Given the description of an element on the screen output the (x, y) to click on. 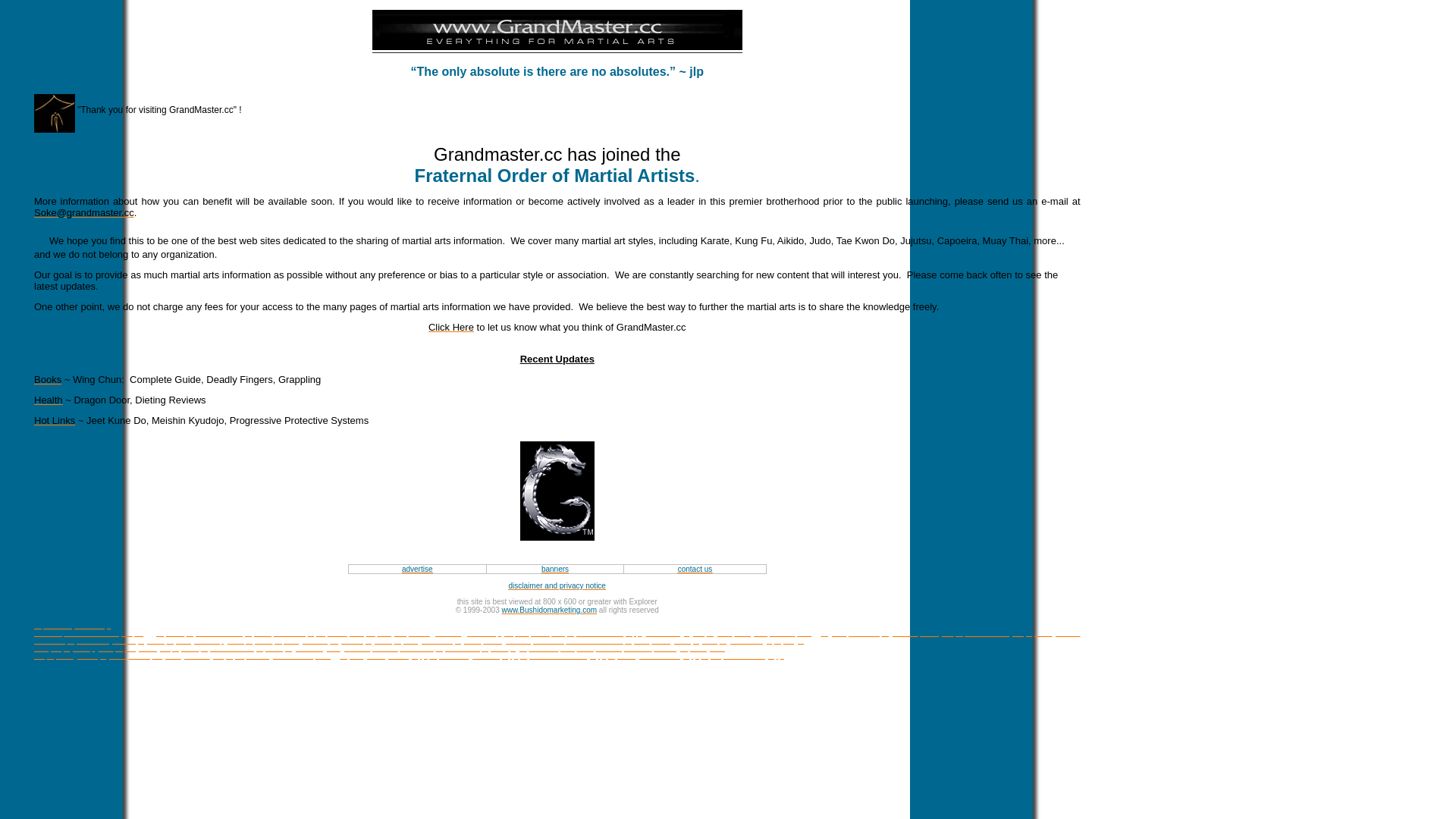
slotsgg Element type: text (808, 633)
warungtoto.epizy.com Element type: text (684, 640)
pusatwin Element type: text (196, 655)
http://vegasslot77.epizy.com/ Element type: text (436, 640)
permatabet88 Element type: text (292, 655)
garuda138 Element type: text (479, 633)
http://daftarvegasslot.epizy.com/ Element type: text (115, 640)
vegasslot77 Element type: text (899, 633)
Hot Links Element type: text (54, 420)
http://vegasslot77pgsoft.epizy.com/ Element type: text (219, 640)
kartugg Element type: text (326, 655)
gaskan88 Element type: text (446, 633)
autowin88sbobet.epizy.com Element type: text (607, 640)
Books Element type: text (47, 379)
vegas4d Element type: text (719, 633)
lemacau Element type: text (782, 633)
psg138 Element type: text (693, 633)
pokerseri Element type: text (356, 648)
sky77 Element type: text (316, 633)
https://vegasslot77.netlify.app/ Element type: text (653, 655)
ligaciputra Element type: text (513, 633)
Soke@grandmaster.cc Element type: text (84, 212)
javaplay88 Element type: text (227, 655)
infini88 Element type: text (139, 655)
luxury111 Element type: text (391, 633)
contact us Element type: text (694, 568)
https://hoki99.netlify.app/ Element type: text (604, 633)
banners Element type: text (554, 568)
cuan138 Element type: text (609, 648)
warungtoto Element type: text (936, 633)
maxwin138 Element type: text (663, 633)
autowin88 Element type: text (863, 633)
gaspol168 Element type: text (169, 633)
http://dragon77.epizy.com/ Element type: text (86, 655)
https://hoki99slot.epizy.com/ Element type: text (228, 633)
bonanza88 Element type: text (416, 648)
joker123 autowin88 Element type: text (557, 636)
vegasslot77 login Element type: text (745, 640)
tambang88 Element type: text (670, 648)
disclaimer and privacy notice Element type: text (556, 585)
https://pokerseri.netlify.app/ Element type: text (741, 655)
nuke gaming slot Element type: text (381, 651)
mild88 Element type: text (337, 633)
mantap168 Element type: text (547, 633)
https://warungtoto.netlify.app/ Element type: text (473, 655)
http://liga-sedayu.epizy.com/ Element type: text (418, 644)
advertise Element type: text (417, 568)
liveslot168 Element type: text (289, 633)
sloto Element type: text (567, 648)
warungtoto.w3spaces.com Element type: text (523, 640)
Health Element type: text (48, 399)
dragon77 Element type: text (165, 655)
www.Bushidomarketing.com Element type: text (548, 609)
http://vegasslot77pragmatic.epizy.com/ Element type: text (333, 640)
ligaslot Element type: text (101, 648)
vegas88 Element type: text (833, 633)
http://ligasedayu.epizy.com/ Element type: text (156, 648)
dewagame Element type: text (750, 633)
bet88 Element type: text (584, 648)
big77 Element type: text (518, 648)
https://selecty.com.br/wp-content/uploads/2022/09/.sky77/ Element type: text (83, 629)
bro138 Element type: text (418, 633)
Click Here Element type: text (450, 326)
https://autowin88.netlify.app/ Element type: text (562, 655)
http://infini88.epizy.com/ Element type: text (471, 648)
luxury12 Element type: text (362, 633)
http://autowin88.epizy.com/ Element type: text (241, 648)
idngg Element type: text (142, 633)
emas138 Element type: text (638, 648)
https://ligasedayu.netlify.app/ Element type: text (382, 655)
http://autowin88login.epizy.com/ Element type: text (1003, 633)
kaisar88 Element type: text (385, 648)
kaisar138 Element type: text (543, 648)
klubslot Element type: text (257, 655)
vegasslot77 gacor Element type: text (312, 648)
